Given the description of an element on the screen output the (x, y) to click on. 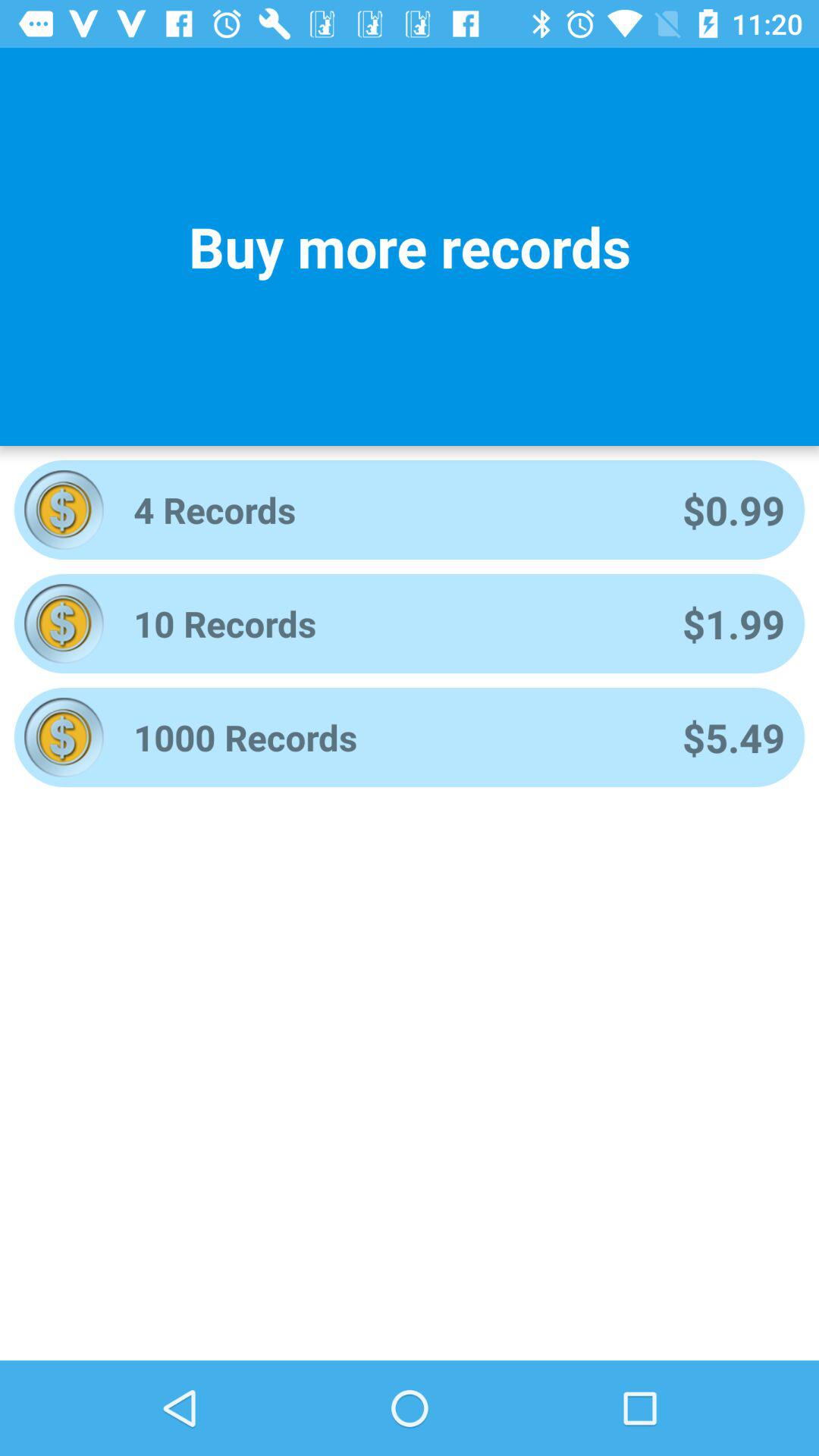
jump to the 4 records app (387, 509)
